Given the description of an element on the screen output the (x, y) to click on. 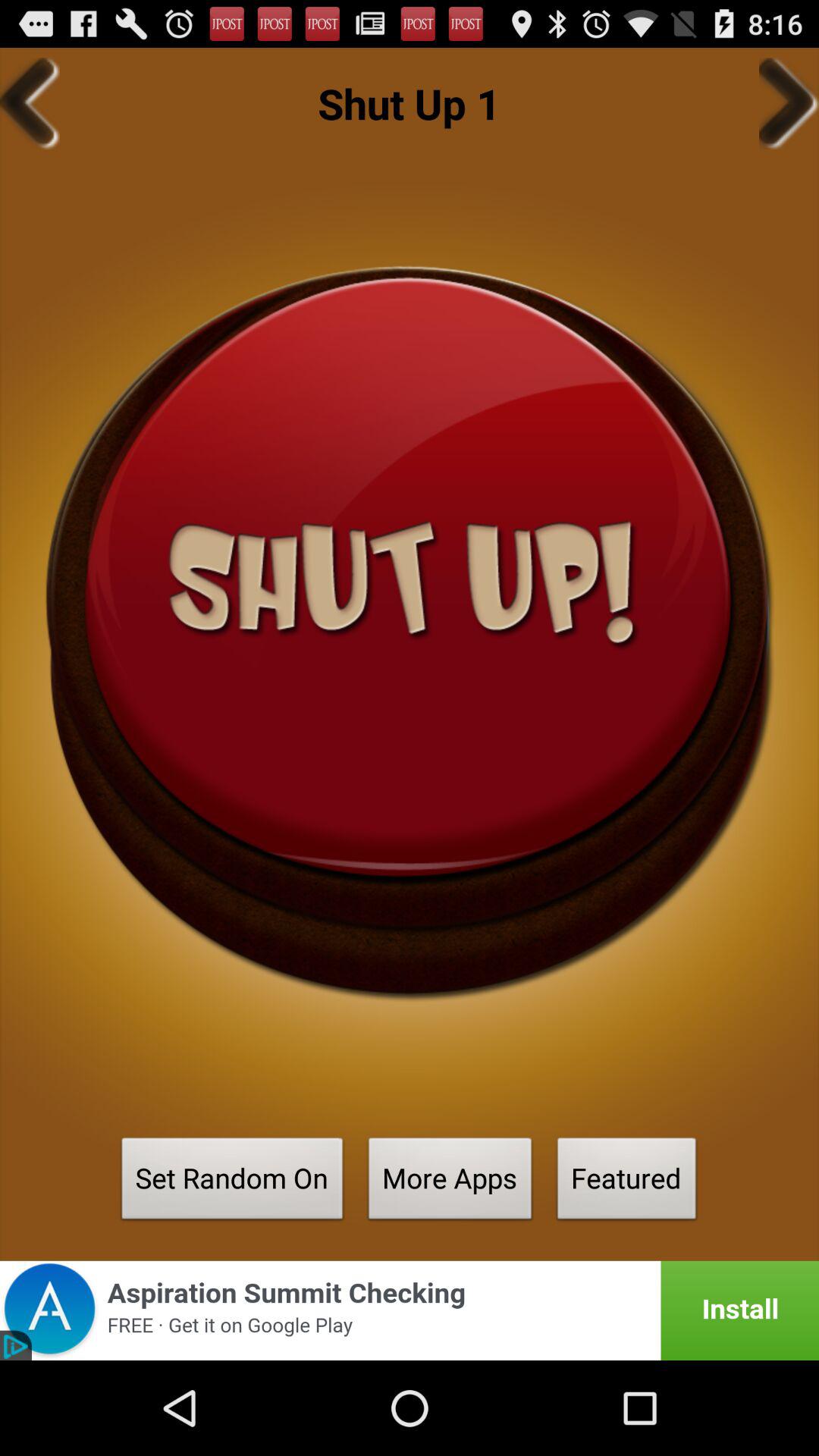
select current option (409, 632)
